Given the description of an element on the screen output the (x, y) to click on. 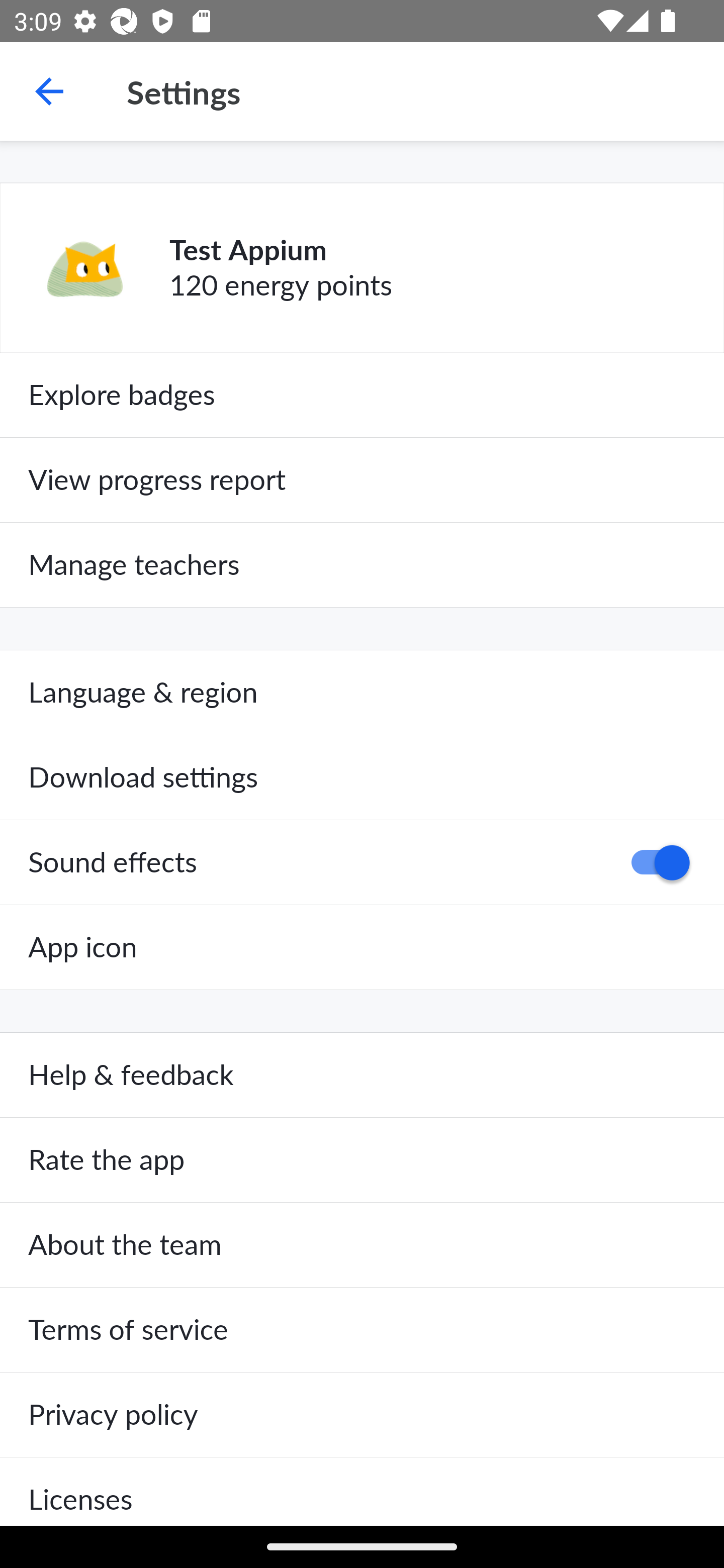
Navigate up (49, 91)
Explore badges (362, 394)
View progress report (362, 479)
Manage teachers (362, 565)
Language & region (362, 692)
Download settings (362, 777)
ON (653, 861)
App icon (362, 946)
Help & feedback (362, 1075)
Rate the app (362, 1159)
About the team (362, 1244)
Terms of service (362, 1329)
Privacy policy (362, 1414)
Licenses (362, 1490)
